Given the description of an element on the screen output the (x, y) to click on. 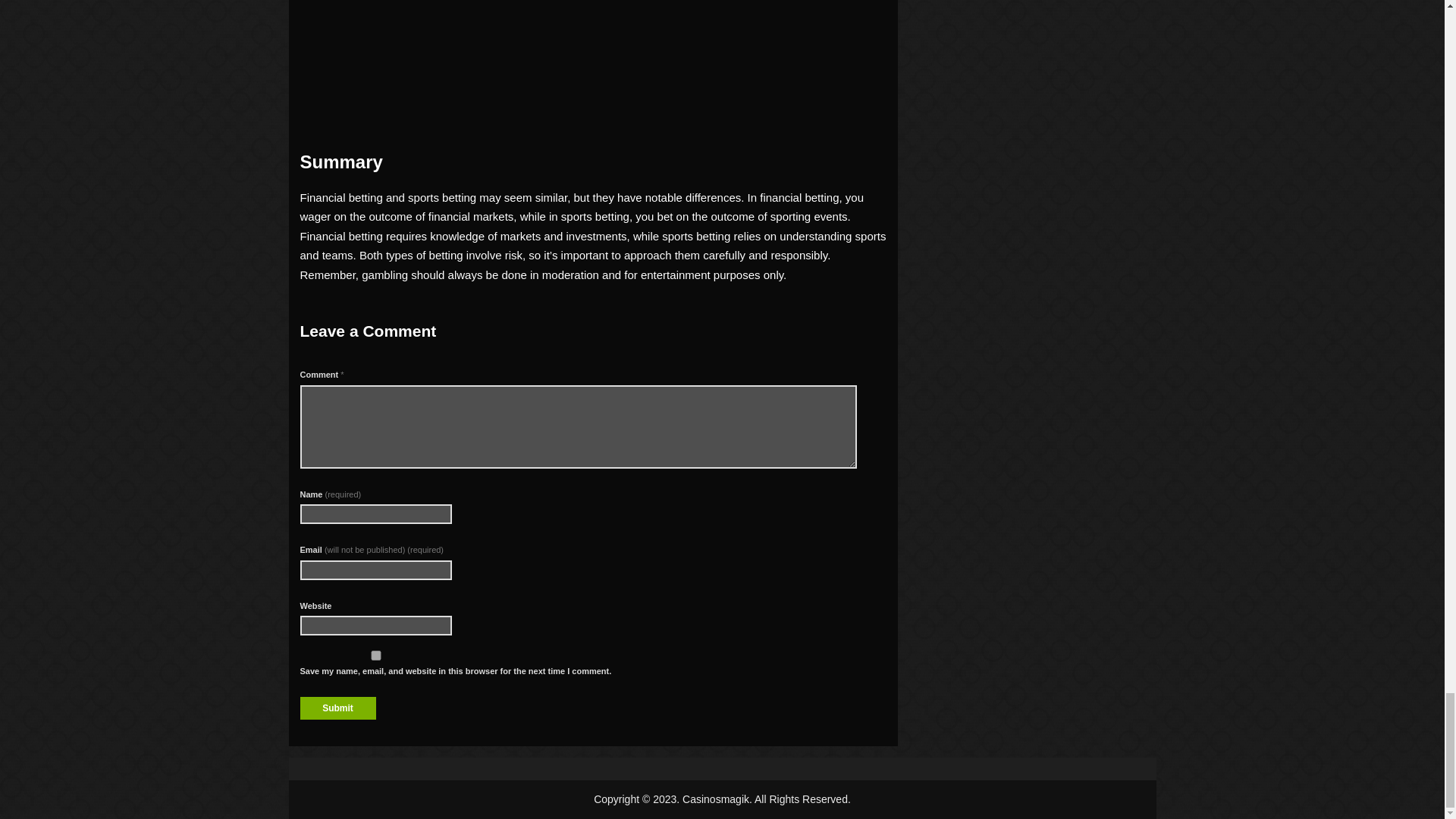
yes (375, 655)
Submit (337, 707)
Submit (337, 707)
